Given the description of an element on the screen output the (x, y) to click on. 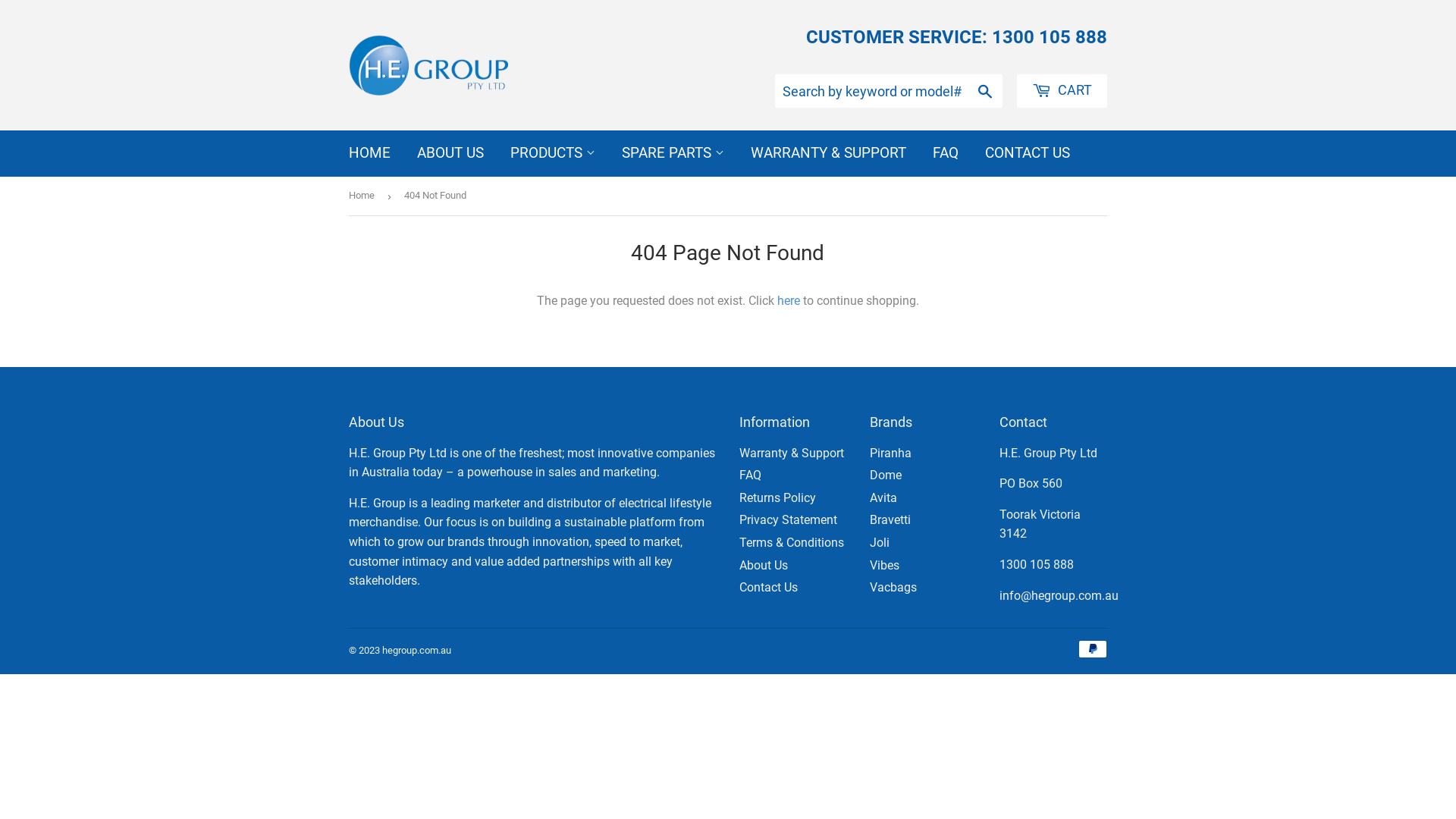
Search Element type: text (985, 91)
hegroup.com.au Element type: text (416, 649)
Terms & Conditions Element type: text (791, 542)
CART Element type: text (1061, 90)
Bravetti Element type: text (889, 519)
Contact Us Element type: text (768, 587)
PRODUCTS Element type: text (552, 152)
ABOUT US Element type: text (450, 152)
Piranha Element type: text (890, 452)
CUSTOMER SERVICE: 1300 105 888 Element type: text (956, 36)
About Us Element type: text (763, 565)
Avita Element type: text (883, 497)
Vacbags Element type: text (892, 587)
Returns Policy Element type: text (777, 497)
WARRANTY & SUPPORT Element type: text (828, 152)
SPARE PARTS Element type: text (672, 152)
Joli Element type: text (879, 542)
Dome Element type: text (885, 474)
HOME Element type: text (369, 152)
Home Element type: text (363, 195)
Vibes Element type: text (884, 565)
Warranty & Support Element type: text (791, 452)
CONTACT US Element type: text (1027, 152)
FAQ Element type: text (945, 152)
Privacy Statement Element type: text (788, 519)
FAQ Element type: text (750, 474)
here Element type: text (788, 300)
